Given the description of an element on the screen output the (x, y) to click on. 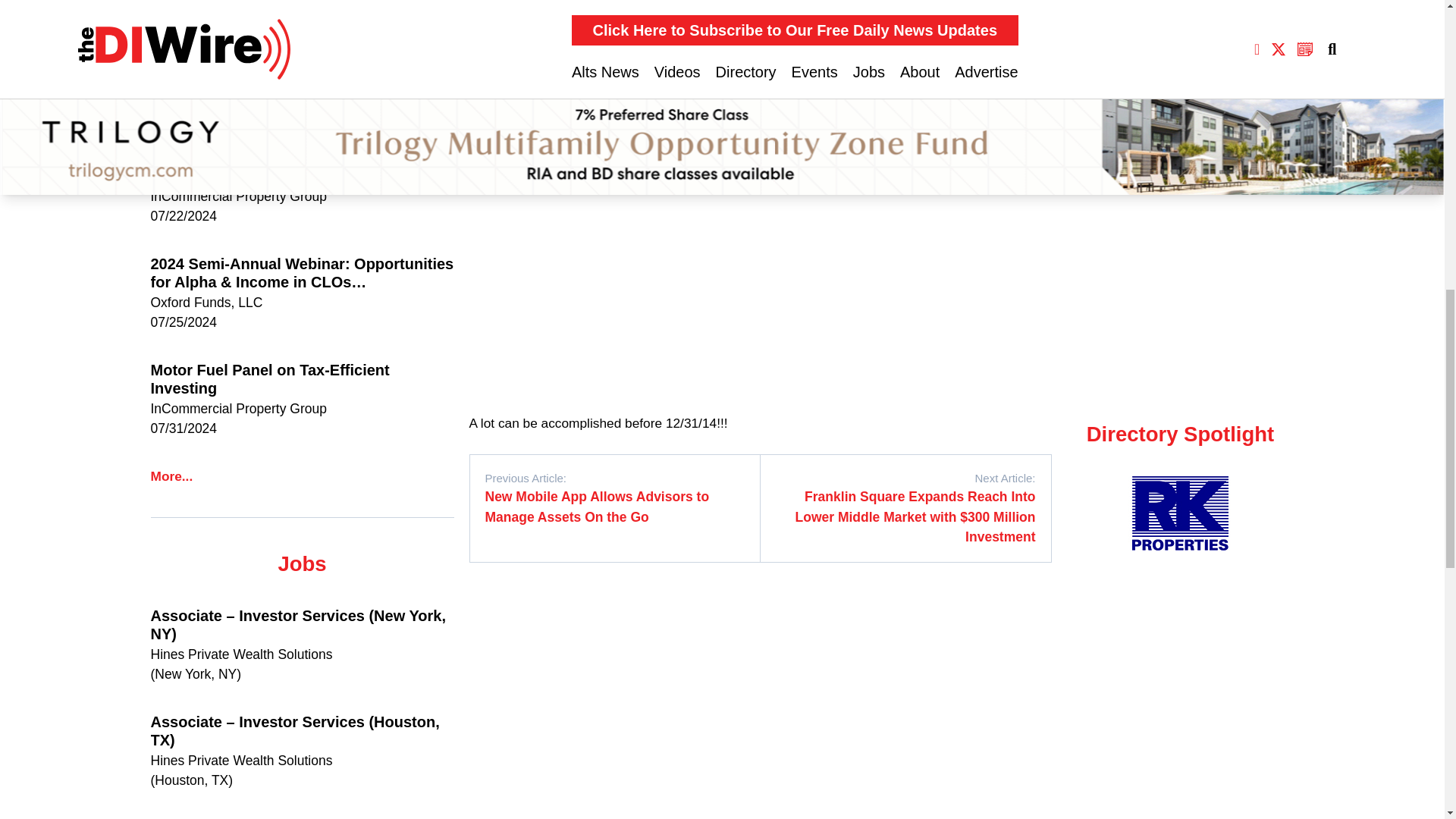
3rd party ad content (905, 298)
3rd party ad content (759, 640)
Learn About Tax Efficient Investing with Bonus Depreciation (300, 60)
Learn About Tax Efficient Investing with Bonus Depreciation (300, 166)
3rd party ad content (614, 298)
